Given the description of an element on the screen output the (x, y) to click on. 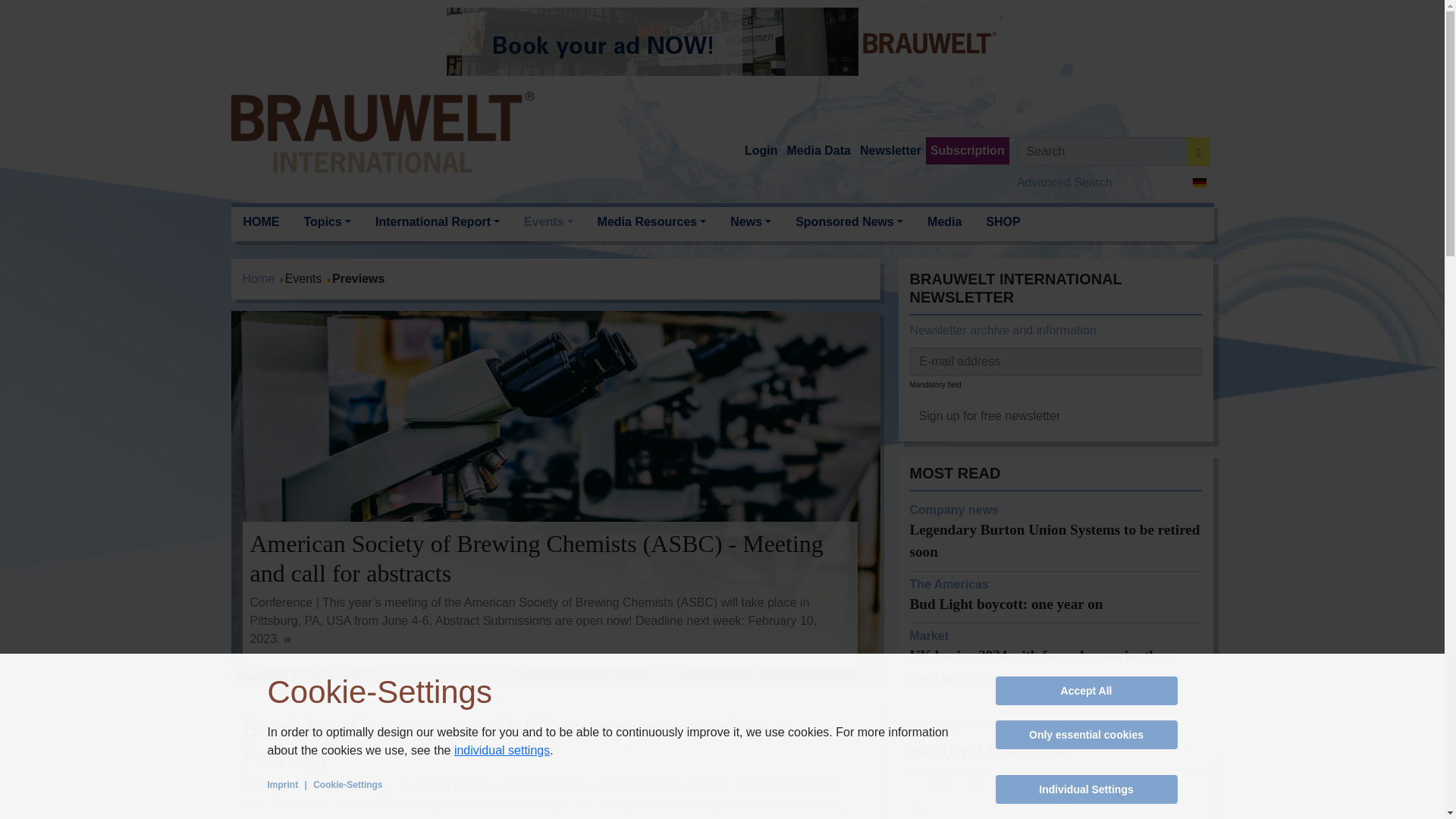
Topics (326, 222)
HOME (260, 222)
International Report (437, 222)
Media Data (817, 150)
Events (548, 222)
Subscription (967, 150)
Newsletter (891, 150)
Login (761, 150)
Advanced Search (1064, 182)
